Given the description of an element on the screen output the (x, y) to click on. 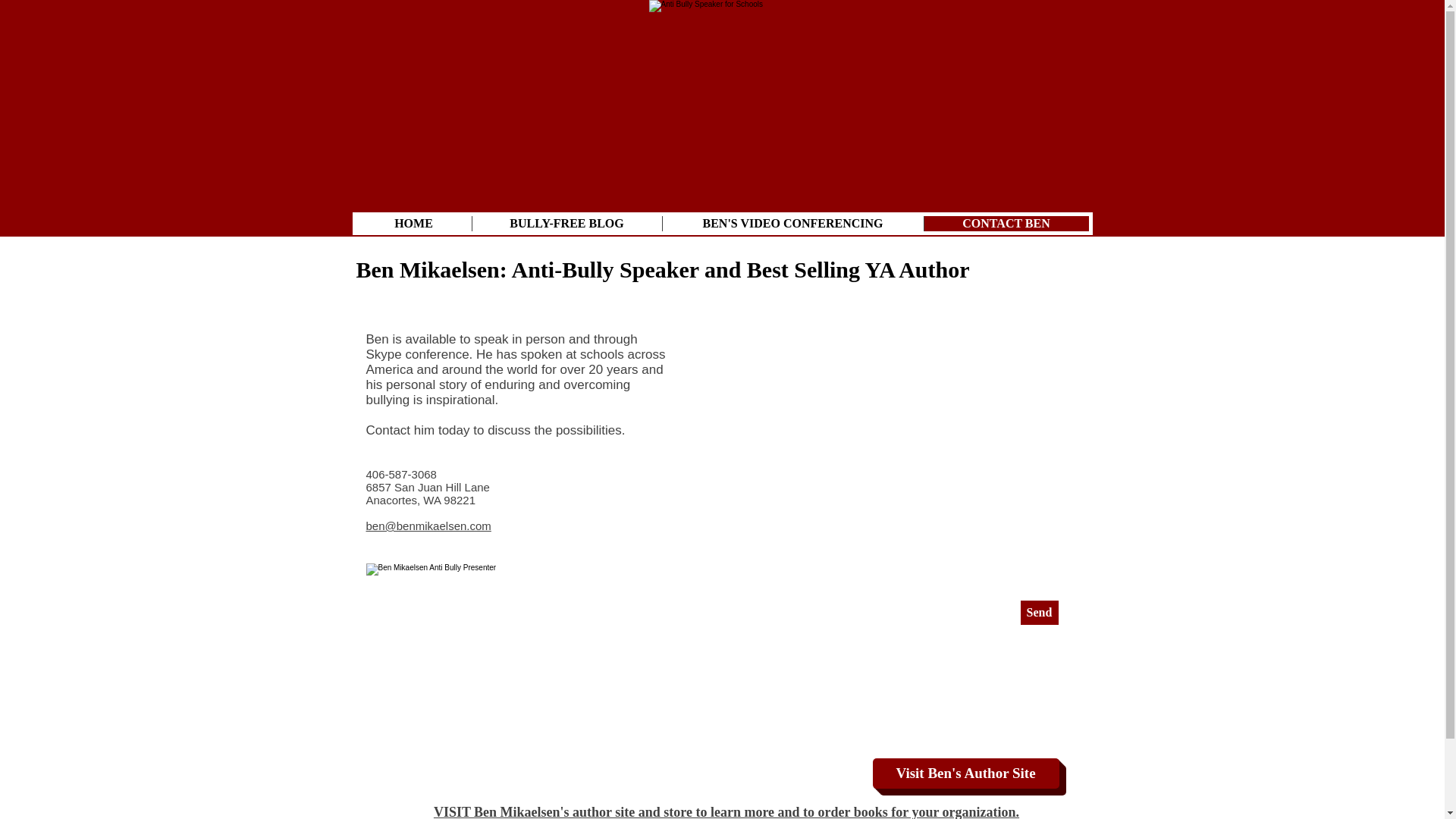
CONTACT BEN (1006, 223)
Send (1039, 612)
HOME (413, 223)
Visit Ben's Author Site (965, 773)
BEN'S VIDEO CONFERENCING (792, 223)
BULLY-FREE BLOG (566, 223)
